Given the description of an element on the screen output the (x, y) to click on. 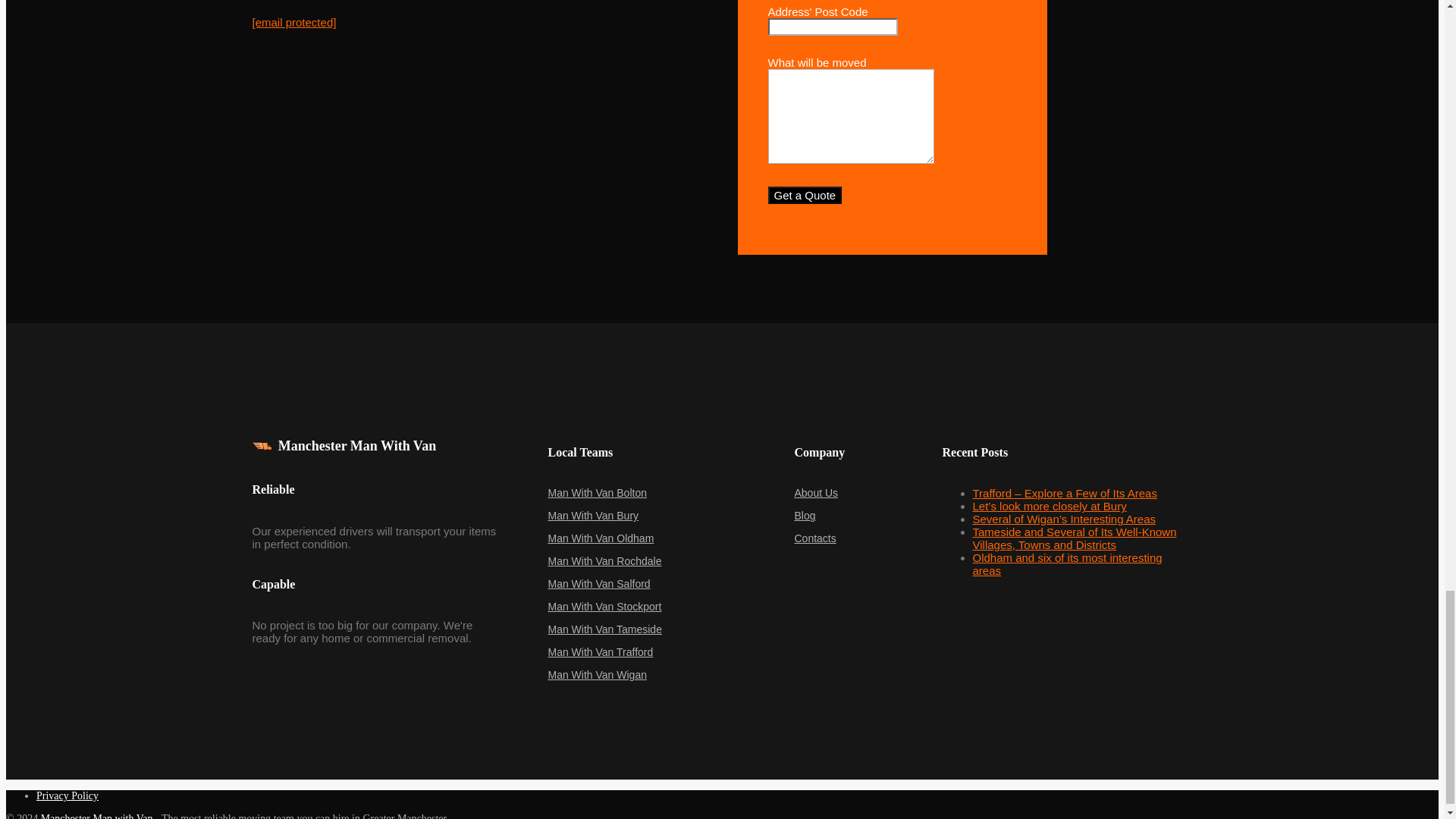
Get a Quote (804, 194)
